Given the description of an element on the screen output the (x, y) to click on. 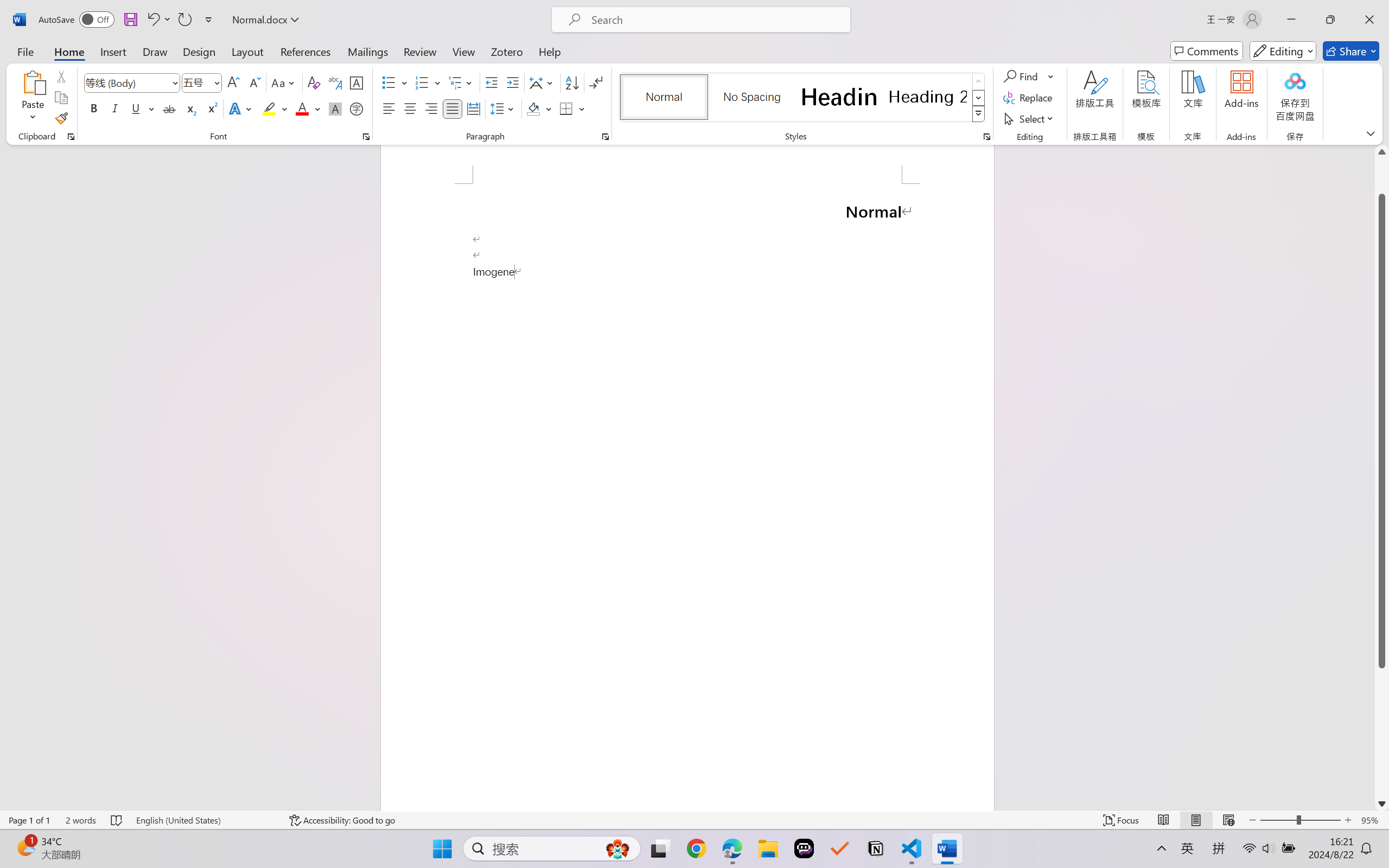
Grow Font (233, 82)
Shading (539, 108)
Text Highlight Color (274, 108)
Font Color (308, 108)
Show/Hide Editing Marks (595, 82)
